Given the description of an element on the screen output the (x, y) to click on. 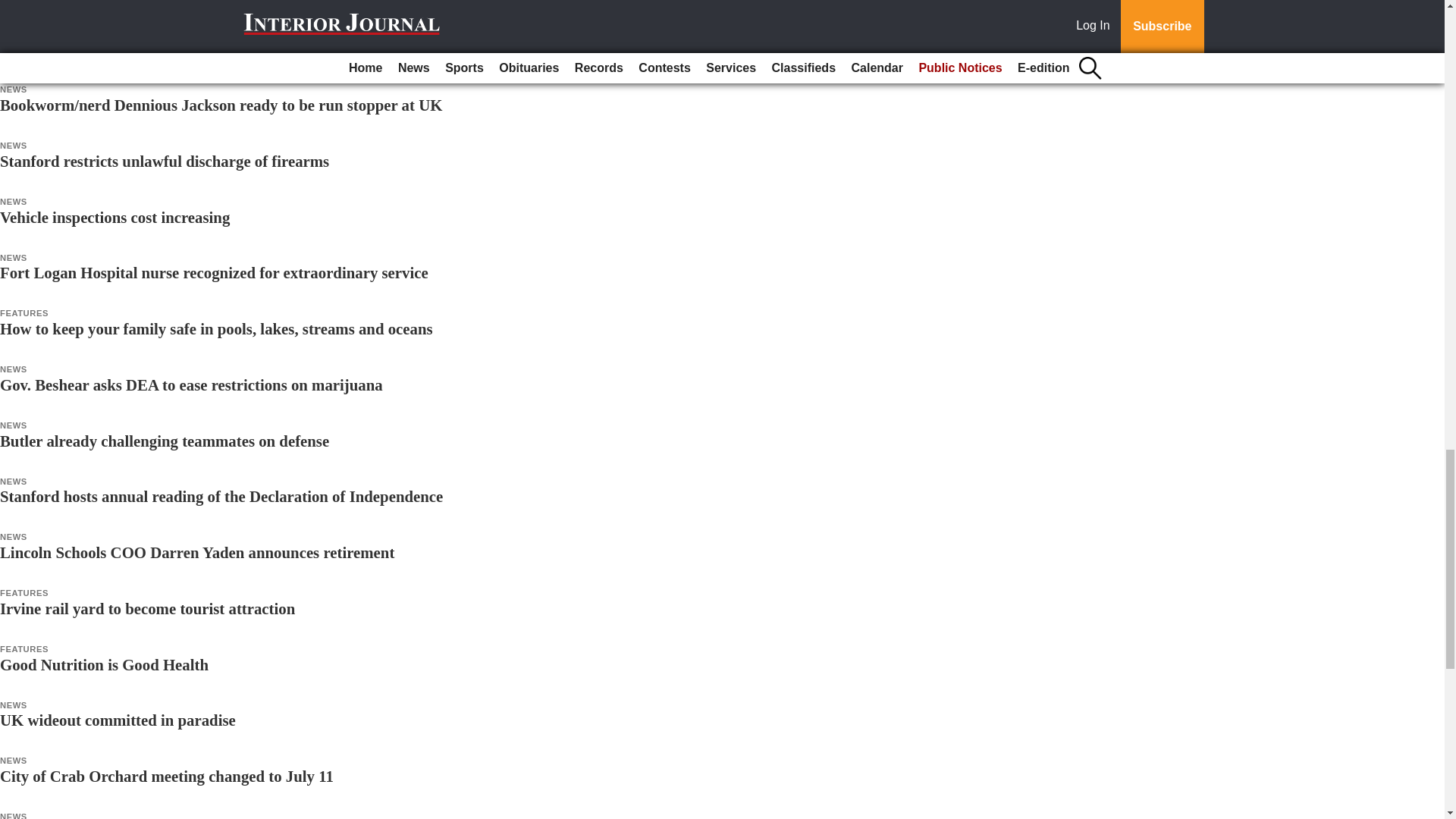
Gov. Beshear asks DEA to ease restrictions on marijuana (191, 384)
Lincoln Schools COO Darren Yaden announces retirement (197, 552)
Gov. Beshear asks DEA to ease restrictions on marijuana (191, 384)
Whooping cough on rise in Kentucky, health officials say (190, 48)
Whooping cough on rise in Kentucky, health officials say (190, 48)
Vehicle inspections cost increasing (115, 217)
Stanford restricts unlawful discharge of firearms (164, 160)
Vehicle inspections cost increasing (115, 217)
Stanford restricts unlawful discharge of firearms (164, 160)
Butler already challenging teammates on defense (164, 440)
